Given the description of an element on the screen output the (x, y) to click on. 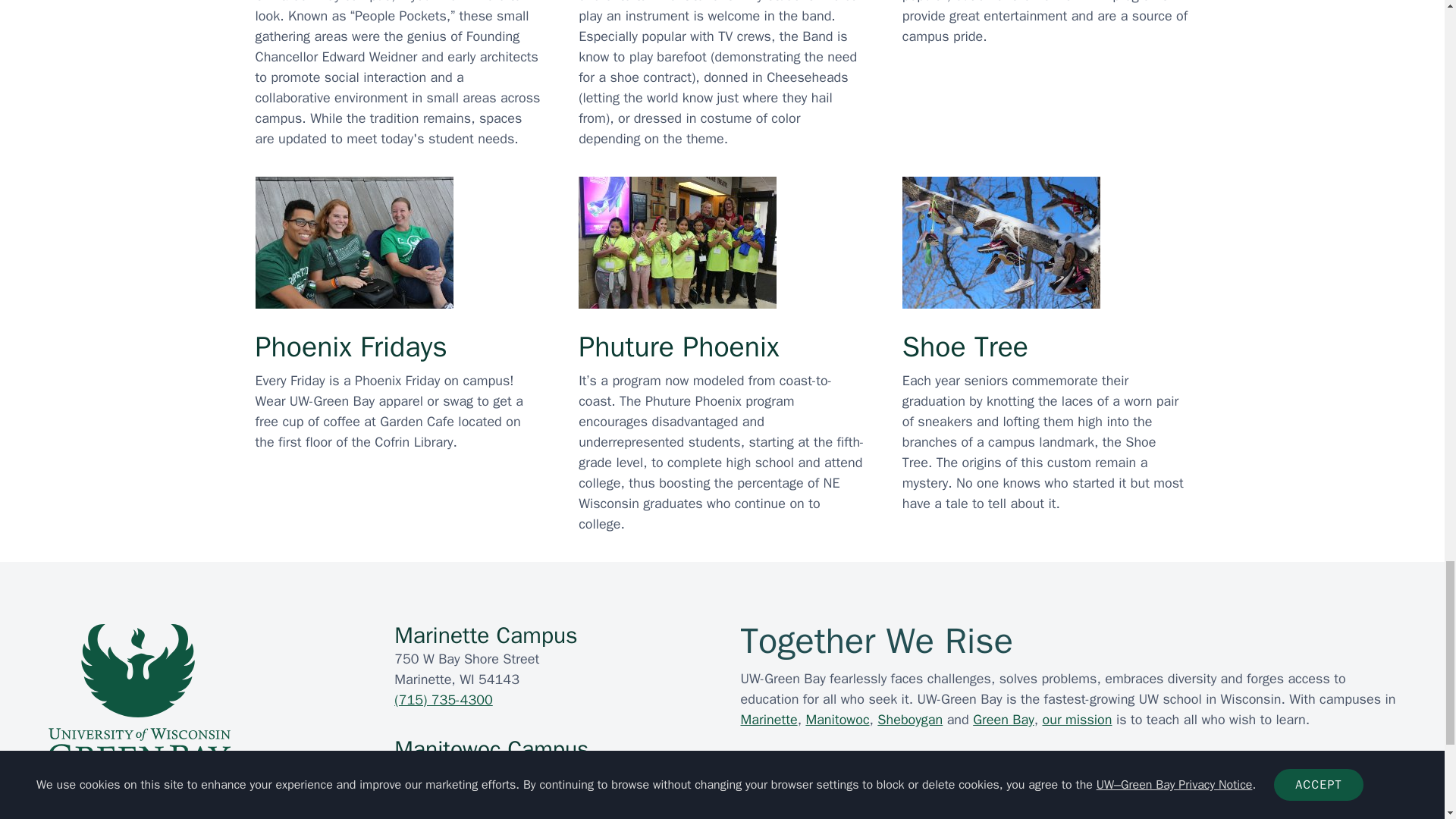
University of Wisconsin-Green Bay logo (139, 696)
